Given the description of an element on the screen output the (x, y) to click on. 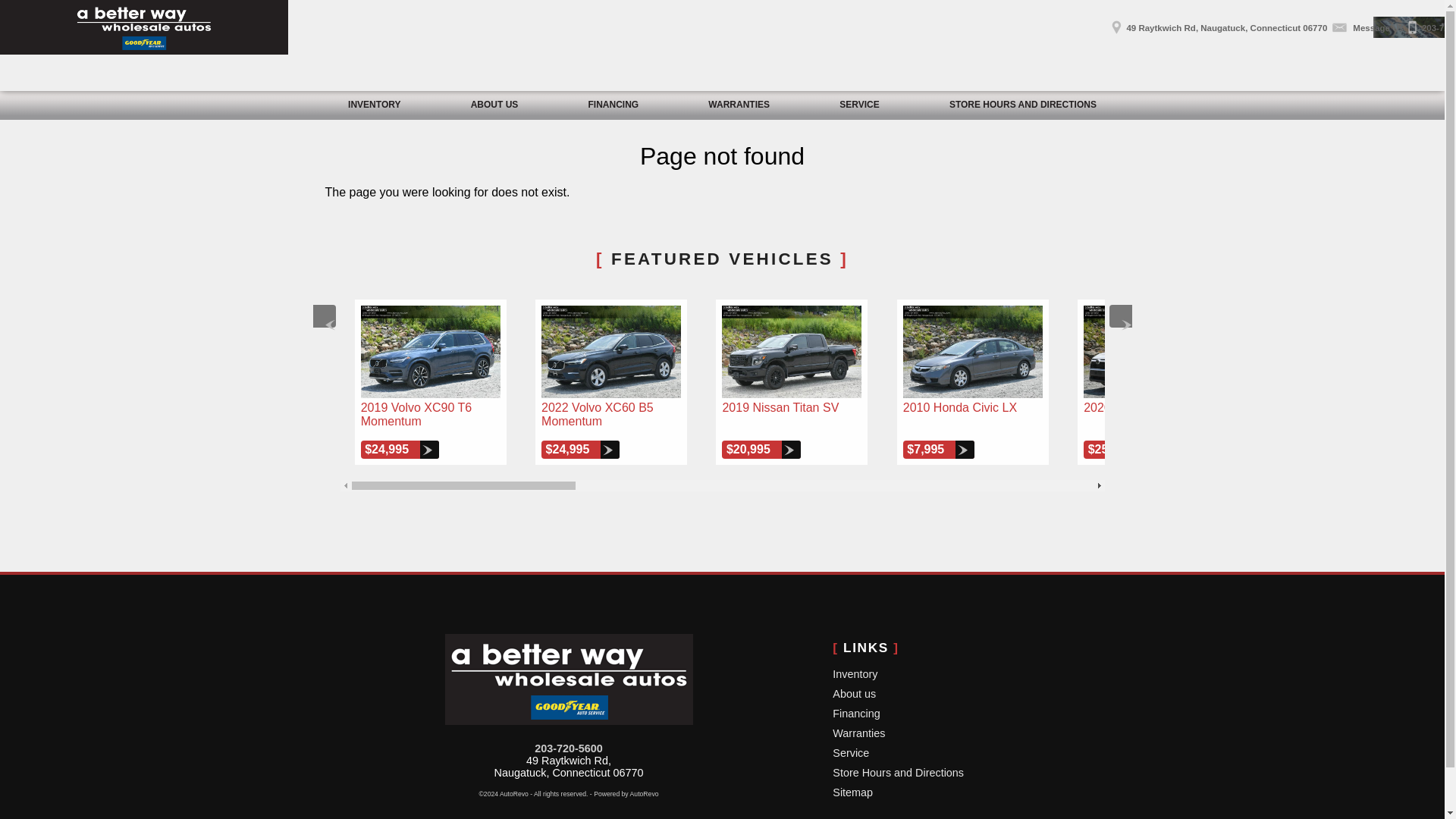
Contact Us (1364, 22)
Message Us (1364, 22)
2016 Nissan Frontier SV in Naugatuck, Connecticut 06770 (1335, 351)
2022 Volvo XC60 B5 Momentum in Naugatuck, Connecticut 06770 (611, 351)
STORE HOURS AND DIRECTIONS (1022, 104)
Our Location (1216, 22)
SERVICE (859, 104)
2019 Volvo XC90 T6 Momentum in Naugatuck, Connecticut 06770 (430, 351)
WARRANTIES (739, 104)
ABOUT US (494, 104)
2019 Nissan Titan SV in Naugatuck, Connecticut 06770 (791, 351)
A Better Way Wholesale Autos-CT (144, 27)
49 Raytkwich Rd, Naugatuck, Connecticut 06770 (1216, 22)
INVENTORY (374, 104)
FINANCING (612, 104)
